Given the description of an element on the screen output the (x, y) to click on. 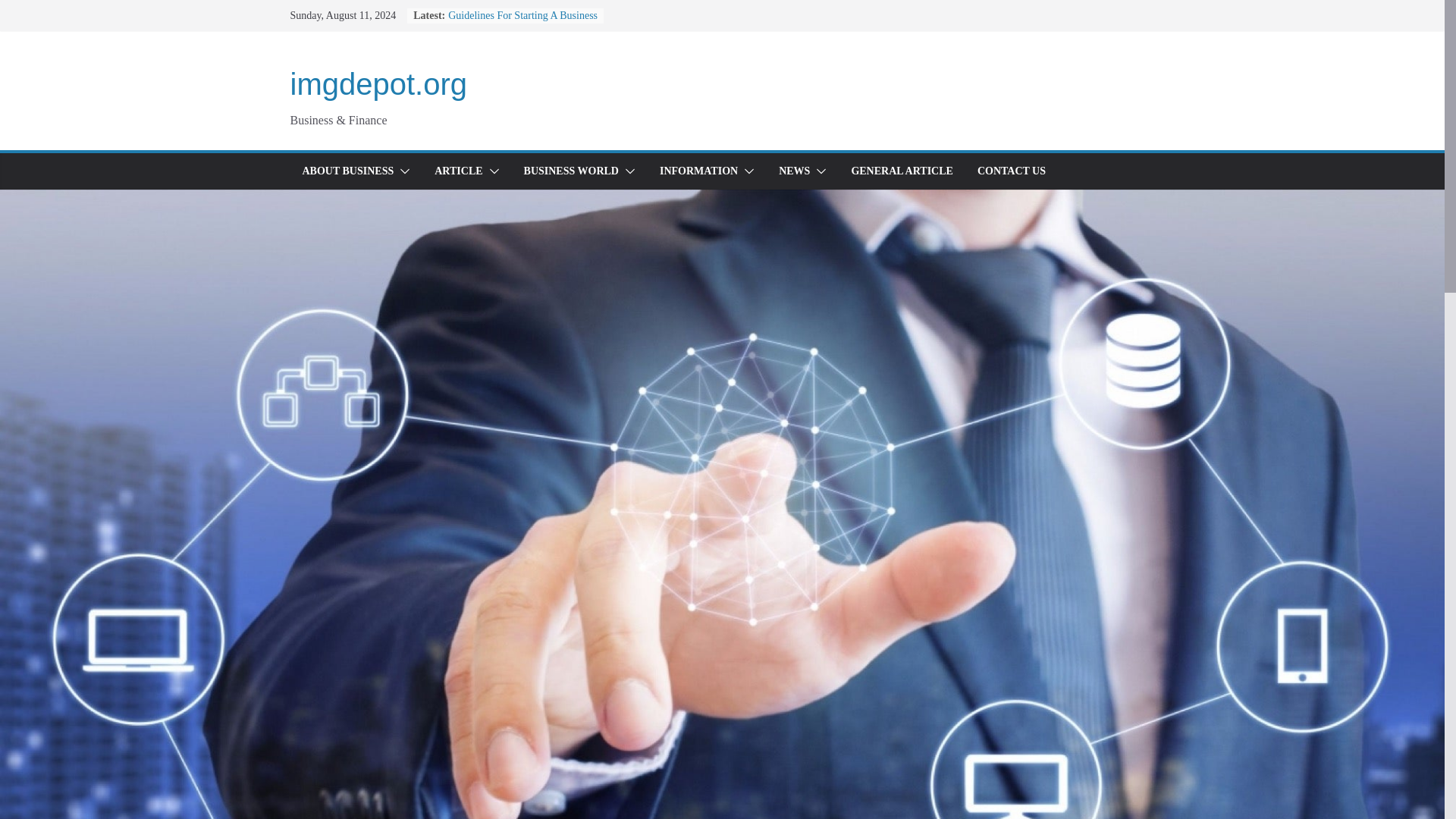
NEWS (793, 170)
ARTICLE (457, 170)
imgdepot.org (377, 83)
Guidelines For Starting A Business (522, 15)
INFORMATION (698, 170)
Guidelines For Starting A Business (522, 15)
CONTACT US (1010, 170)
ABOUT BUSINESS (347, 170)
imgdepot.org (377, 83)
BUSINESS WORLD (571, 170)
